Given the description of an element on the screen output the (x, y) to click on. 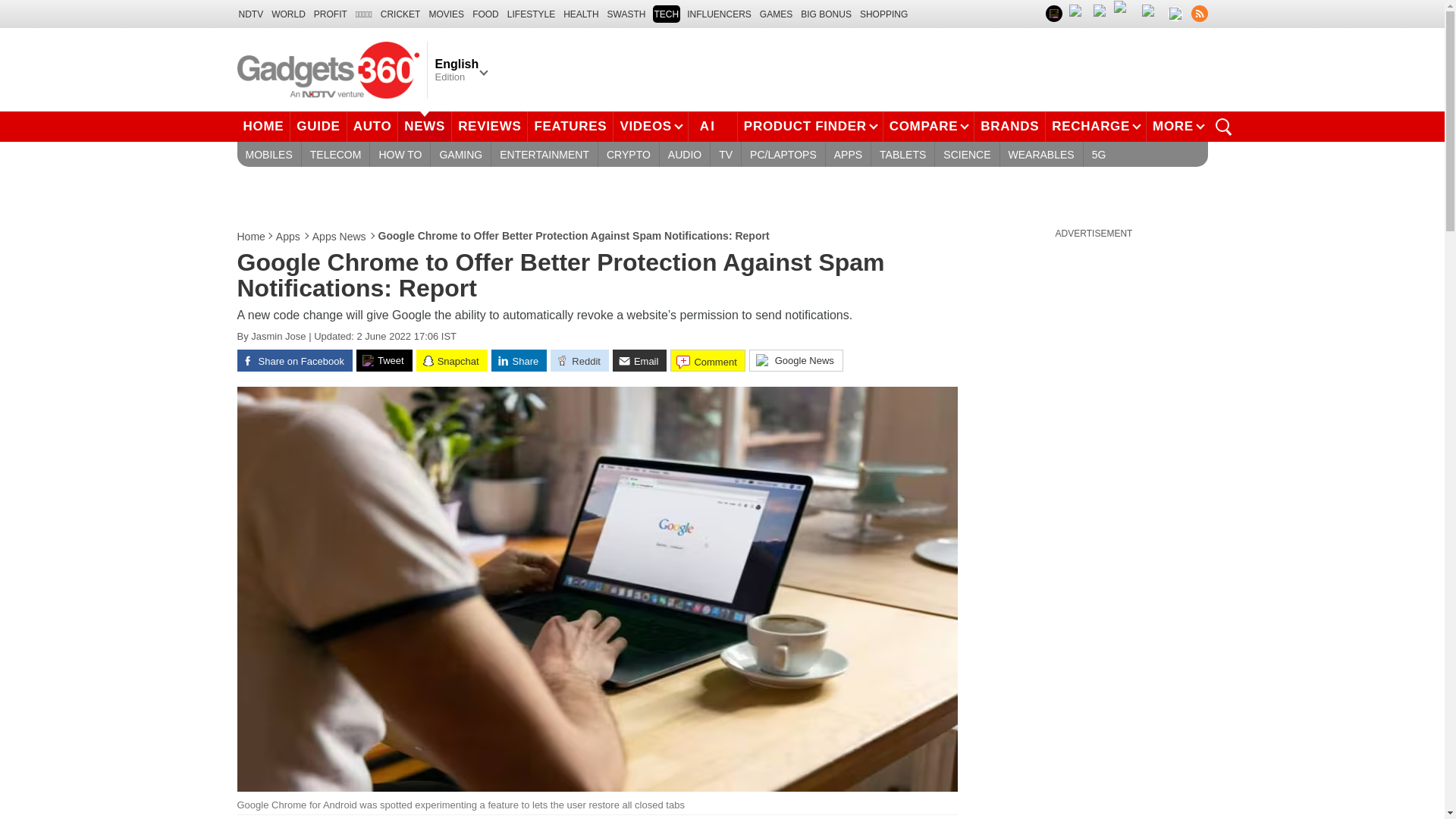
SHOPPING (883, 13)
NDTV (249, 13)
GUIDE (317, 126)
CRICKET (400, 13)
INFLUENCERS (718, 13)
GAMES (775, 13)
LIFESTYLE (530, 13)
FOOD (485, 13)
MOVIES (445, 13)
REVIEWS (489, 126)
VIDEOS (649, 126)
HEALTH (580, 13)
Games (775, 13)
Profit (331, 13)
Home (250, 236)
